Given the description of an element on the screen output the (x, y) to click on. 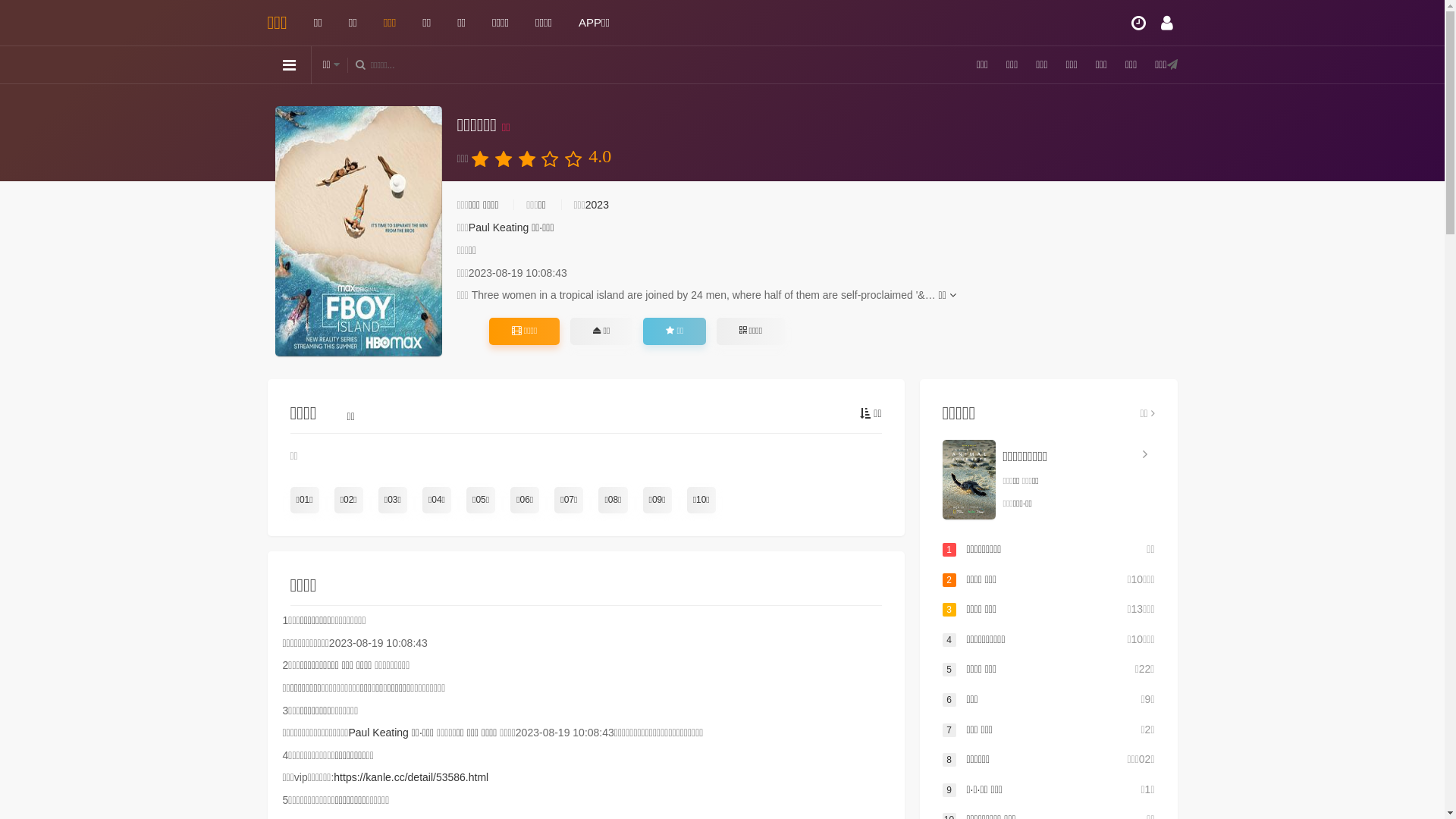
https://kanle.cc/detail/53586.html Element type: text (410, 777)
Paul Element type: text (478, 227)
Keating Element type: text (510, 227)
Paul Element type: text (358, 732)
Keating Element type: text (389, 732)
2023 Element type: text (596, 204)
